Given the description of an element on the screen output the (x, y) to click on. 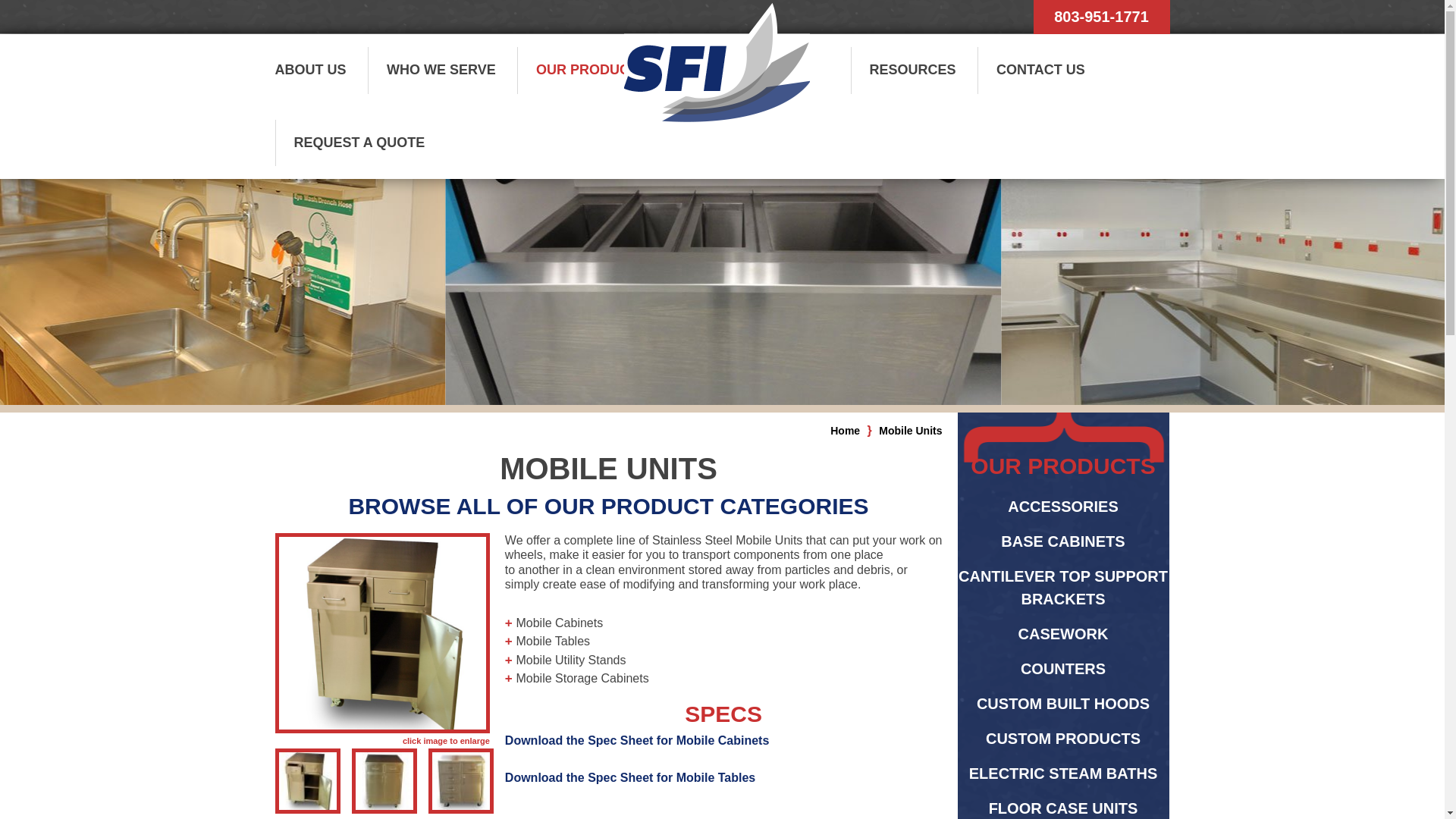
Go to Mobile Units. (910, 430)
ABOUT US (319, 70)
WHO WE SERVE (440, 70)
